Given the description of an element on the screen output the (x, y) to click on. 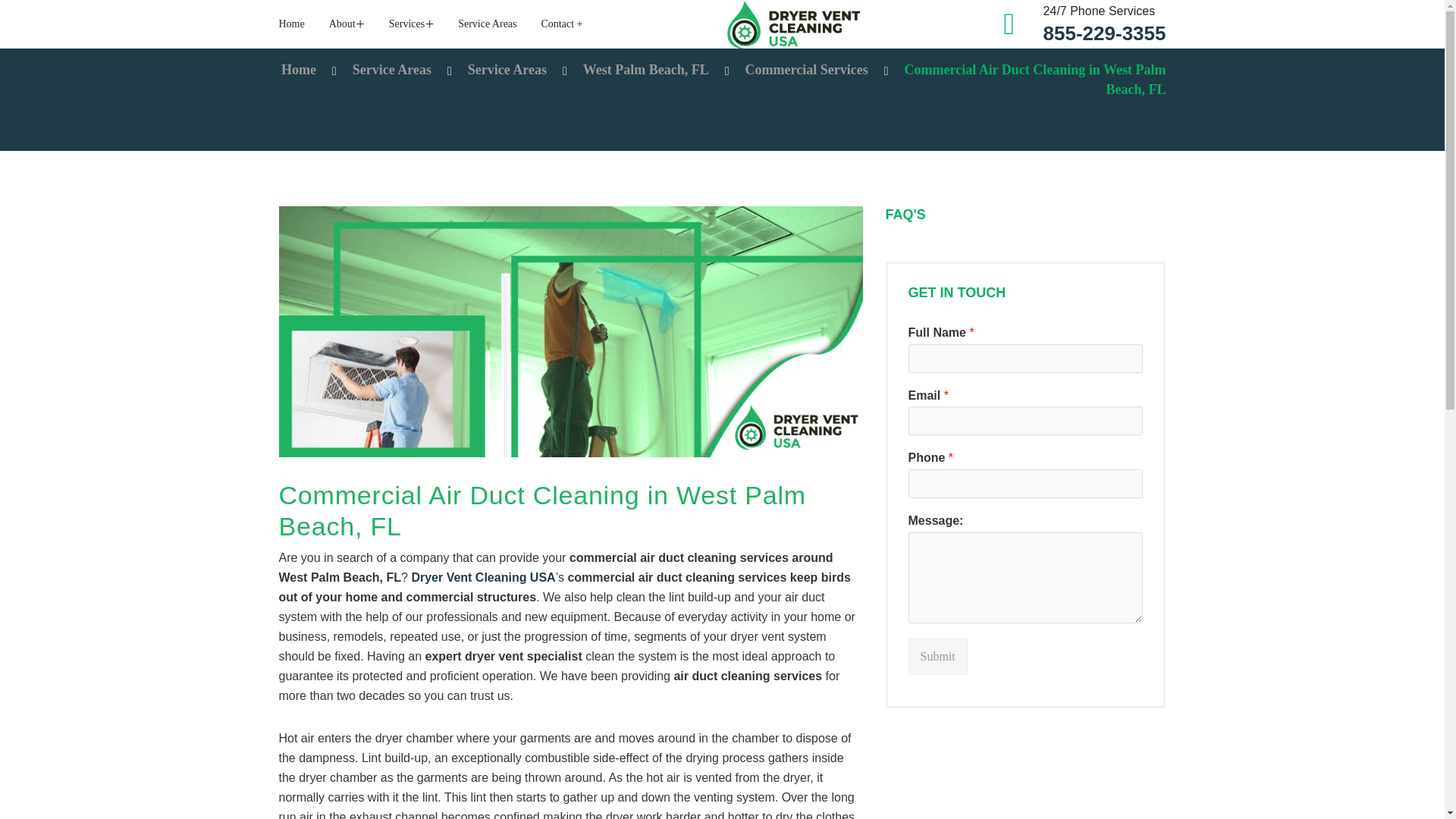
Service Areas (391, 69)
Home (298, 69)
855-229-3355 (1104, 33)
West Palm Beach, FL (646, 69)
Service Areas (507, 69)
Dryer Vent Cleaning USA (298, 69)
West Palm Beach, FL (646, 69)
Commercial Services (806, 69)
Dryer Vent Cleaning USA (793, 24)
Service Areas (391, 69)
Services (410, 23)
Commercial Services (806, 69)
Dryer Vent Cleaning USA (482, 576)
Service Areas (487, 23)
